Given the description of an element on the screen output the (x, y) to click on. 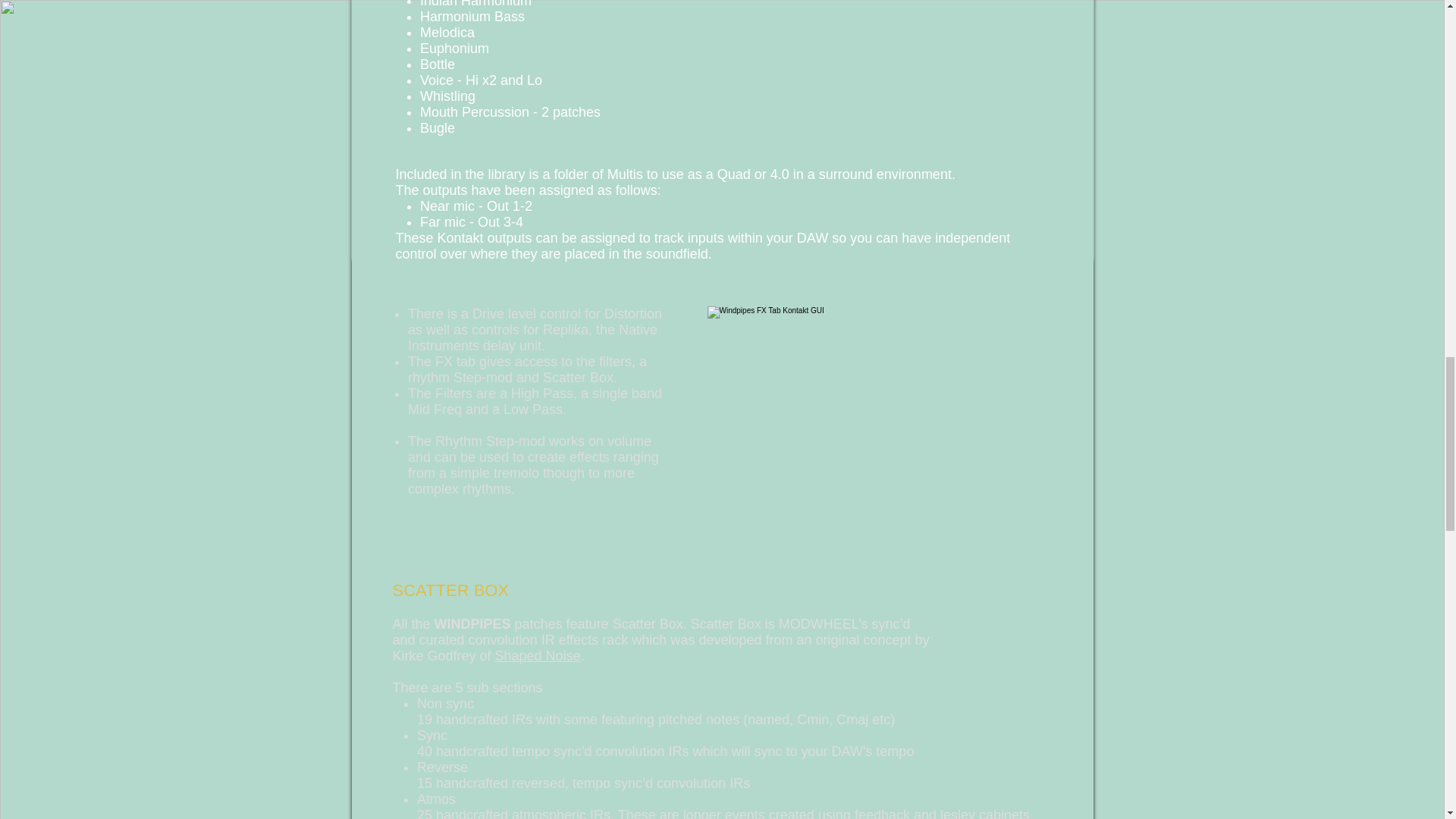
Shaped Noise (537, 655)
WINDPIPES FX Tab in Kontakt (893, 443)
WINDPIPES Main Tab in Kontakt (893, 55)
